Given the description of an element on the screen output the (x, y) to click on. 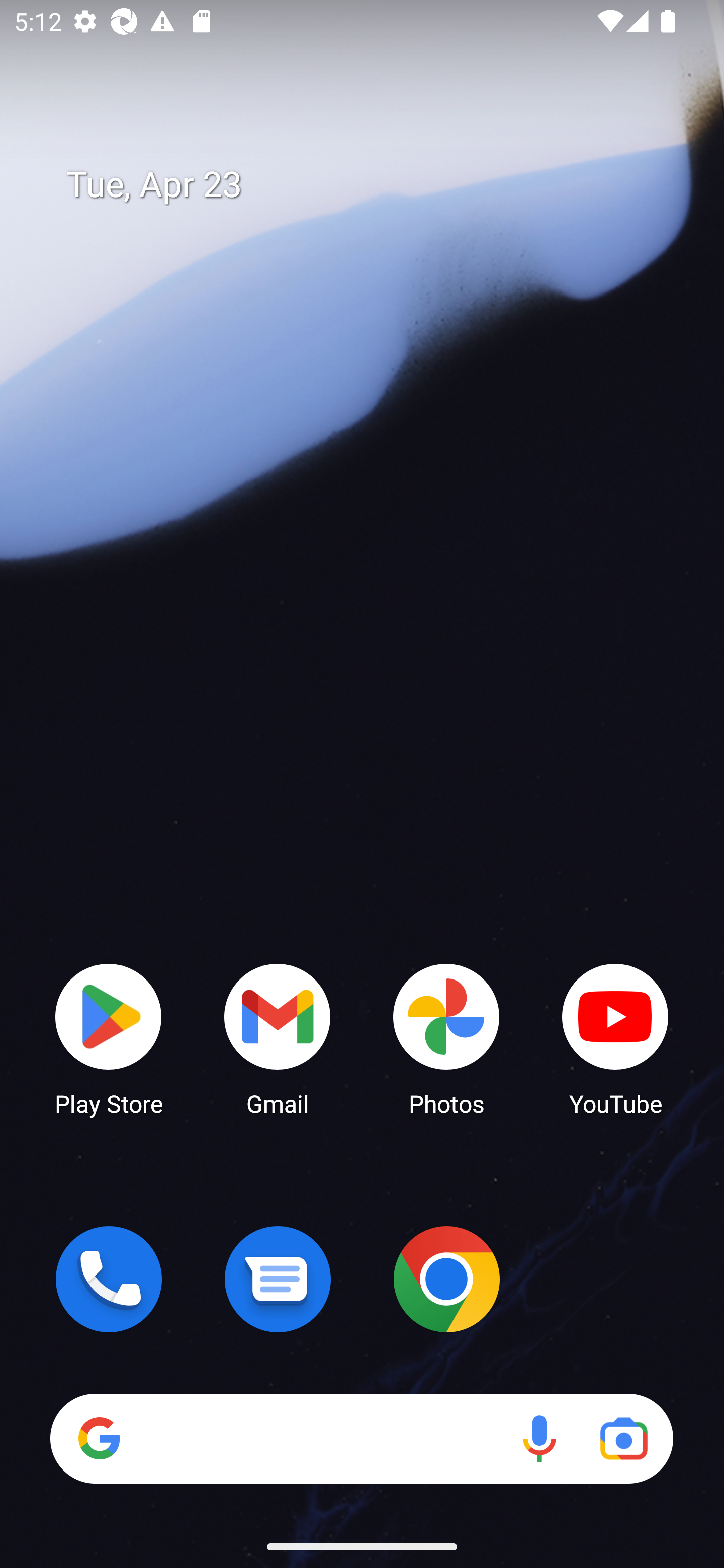
Tue, Apr 23 (375, 184)
Play Store (108, 1038)
Gmail (277, 1038)
Photos (445, 1038)
YouTube (615, 1038)
Phone (108, 1279)
Messages (277, 1279)
Chrome (446, 1279)
Search Voice search Google Lens (361, 1438)
Voice search (539, 1438)
Google Lens (623, 1438)
